Given the description of an element on the screen output the (x, y) to click on. 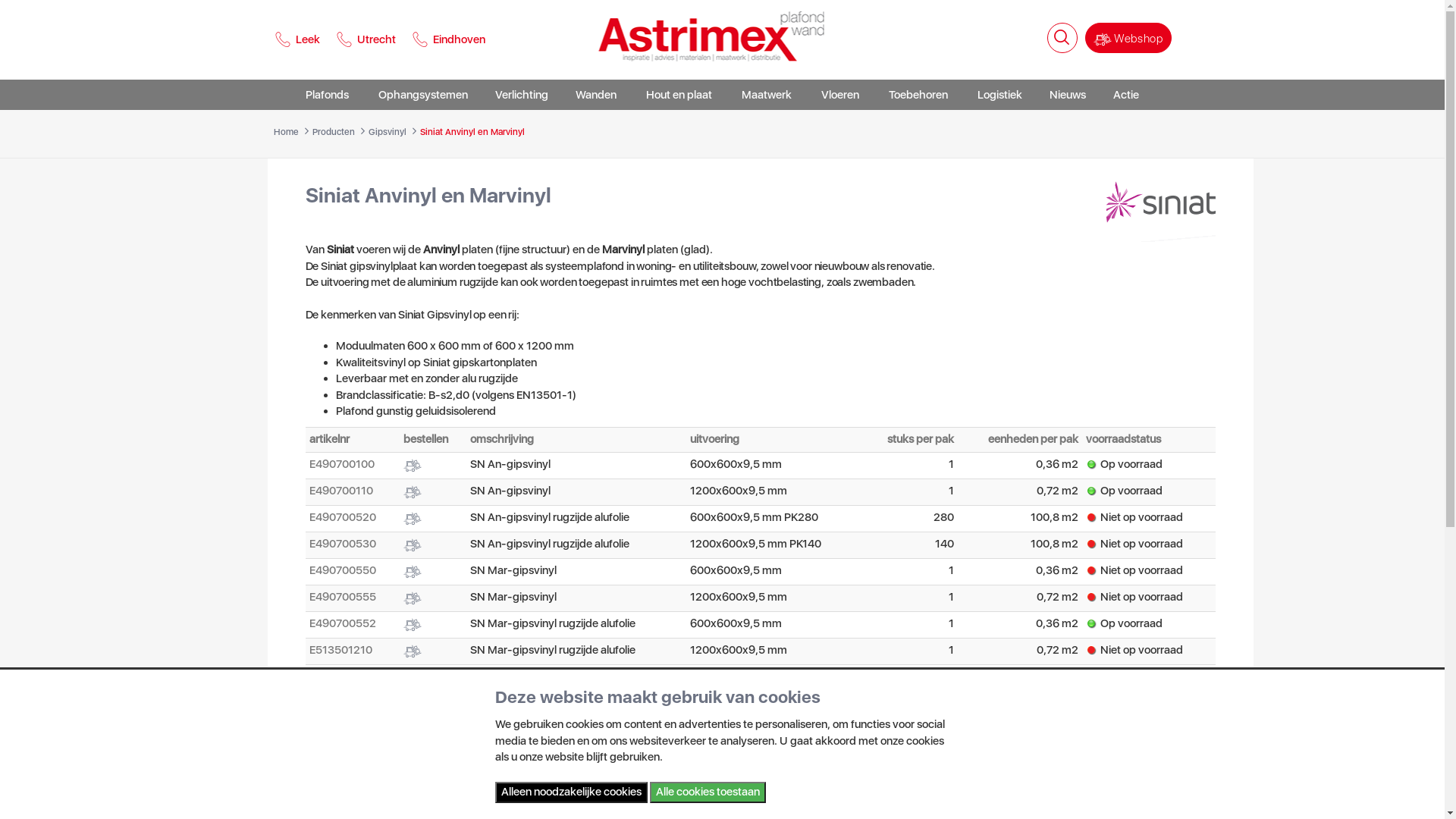
Alle cookies toestaan Element type: text (707, 791)
Home Element type: text (285, 131)
Download technische specificaties Element type: text (431, 718)
Maatwerk Element type: text (766, 94)
Plafonds Element type: text (326, 94)
omschrijving Element type: text (501, 438)
E490700530 Element type: text (342, 543)
uitvoering Element type: text (714, 438)
Nieuws Element type: text (1067, 94)
eenheden per pak Element type: text (1033, 438)
E490700552 Element type: text (342, 623)
Hout en plaat Element type: text (678, 94)
Download technische specificaties Element type: text (686, 718)
E513501210 Element type: text (340, 649)
Eindhoven Element type: text (447, 39)
Gipsvinyl Element type: text (387, 131)
E490700100 Element type: text (341, 463)
Vloeren Element type: text (839, 94)
Verlichting Element type: text (521, 94)
Webshop Element type: text (1128, 37)
Logistiek Element type: text (999, 94)
bestellen Element type: text (425, 438)
Leek Element type: text (299, 39)
Alleen noodzakelijke cookies Element type: text (570, 791)
Wanden Element type: text (595, 94)
E490700110 Element type: text (341, 490)
E490700555 Element type: text (342, 596)
Overzicht assortiment Siniat Element type: hover (1159, 203)
E490700520 Element type: text (342, 517)
Toebehoren Element type: text (918, 94)
stuks per pak Element type: text (920, 438)
artikelnr Element type: text (329, 438)
E490700550 Element type: text (342, 570)
Utrecht Element type: text (365, 39)
webshop Element type: text (770, 676)
Producten Element type: text (333, 131)
Actie Element type: text (1125, 94)
Ophangsystemen Element type: text (422, 94)
